Given the description of an element on the screen output the (x, y) to click on. 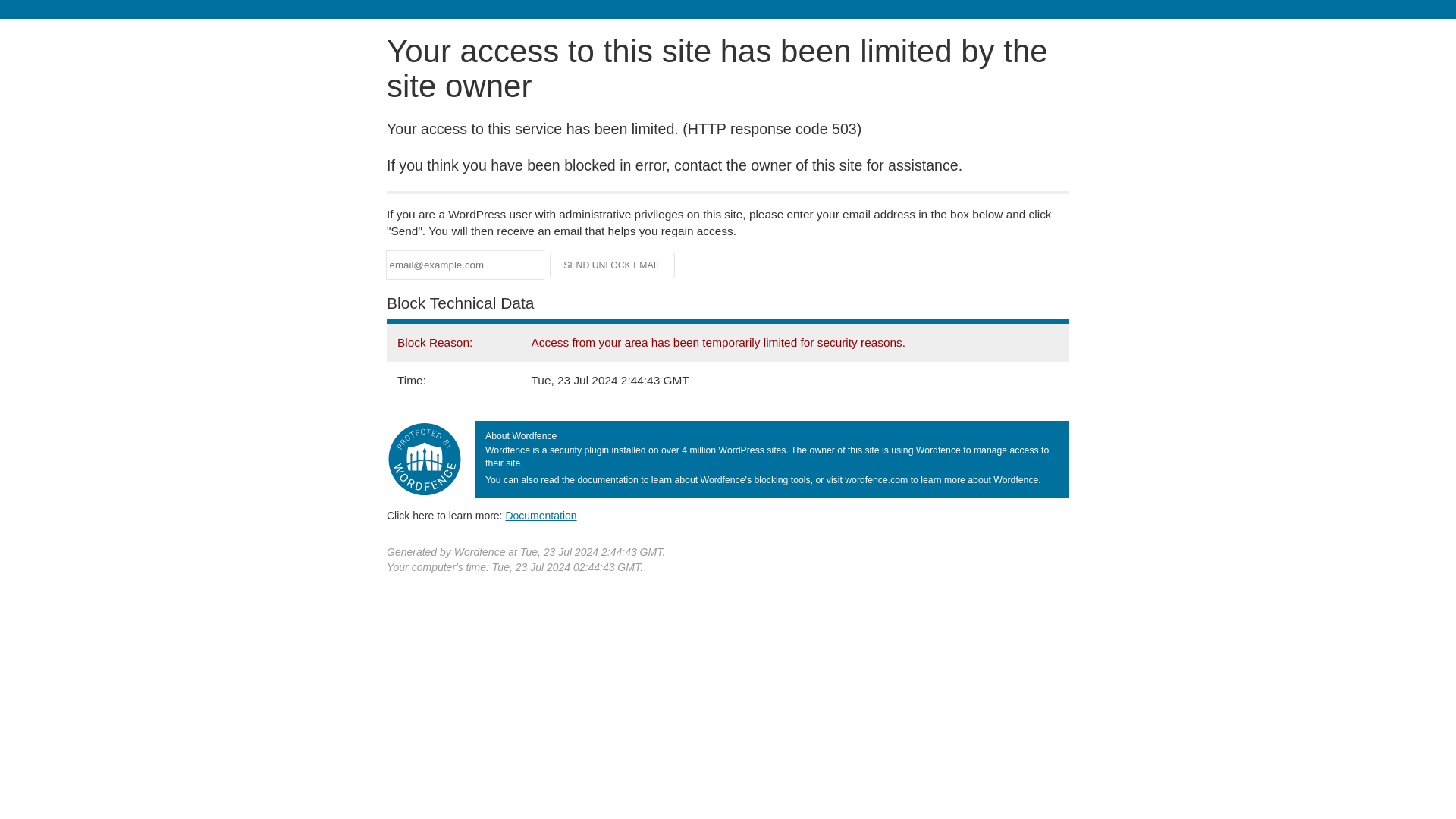
Send Unlock Email (612, 265)
Documentation (540, 515)
Send Unlock Email (612, 265)
